Given the description of an element on the screen output the (x, y) to click on. 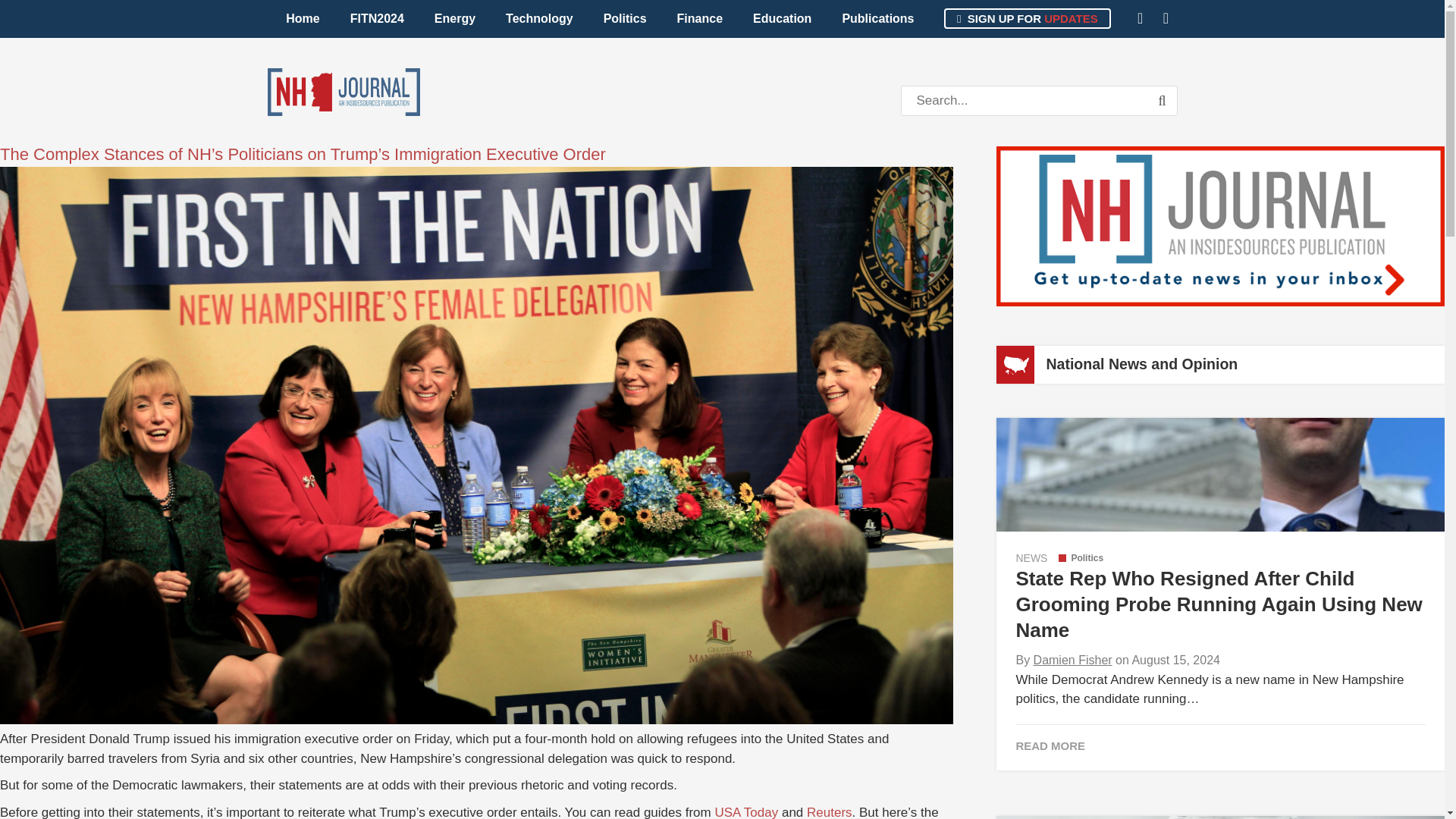
Reuters (828, 812)
Politics (625, 18)
Publications (877, 18)
Technology (539, 18)
Posts by Damien Fisher (1072, 659)
Energy (454, 18)
Home (302, 18)
FITN2024 (376, 18)
View all posts in Politics (1080, 557)
  SIGN UP FOR UPDATES (1026, 18)
